Given the description of an element on the screen output the (x, y) to click on. 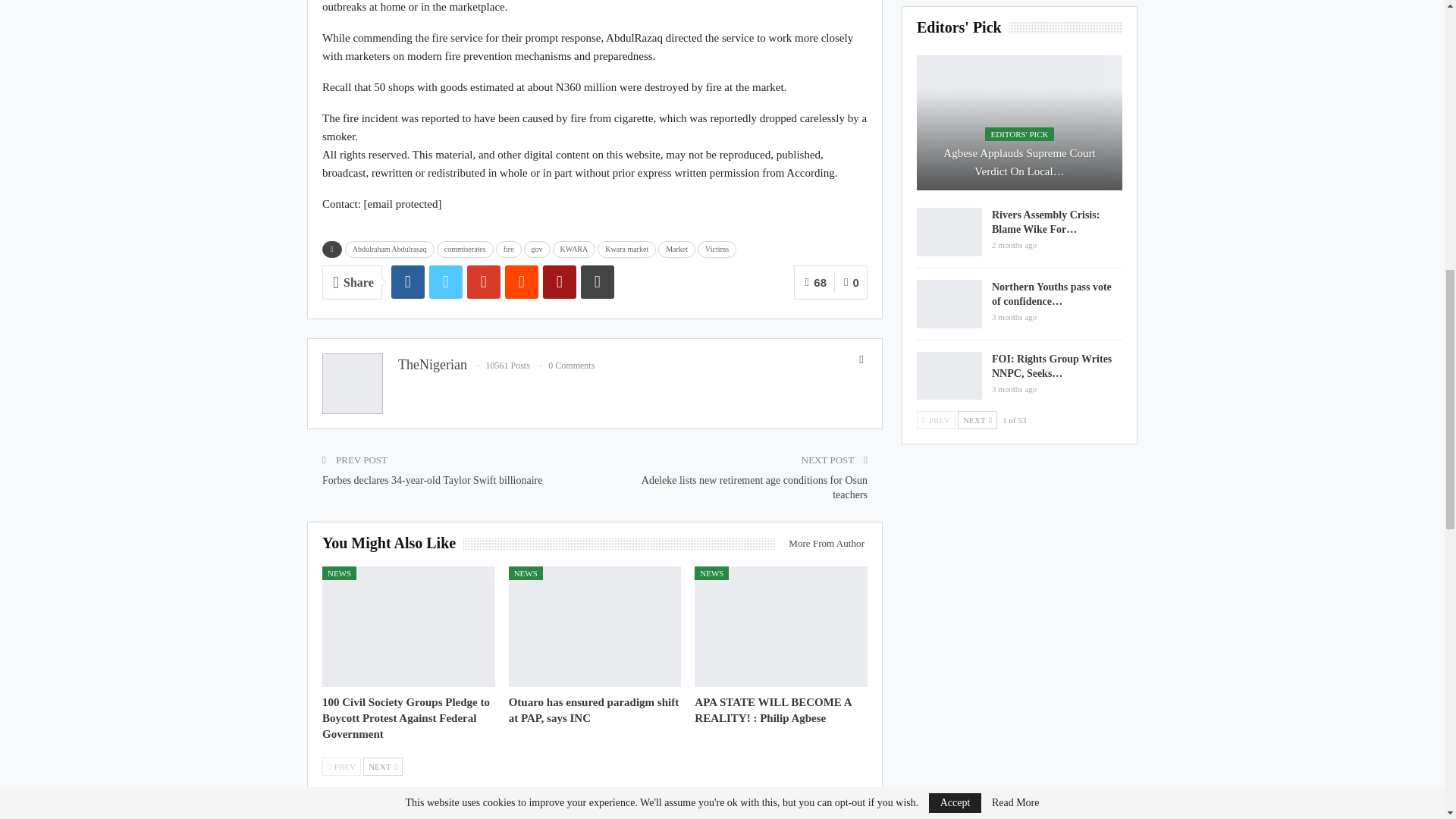
Kwara market (626, 248)
commiserates (464, 248)
Market (676, 248)
KWARA (574, 248)
fire (508, 248)
gov (537, 248)
Otuaro has ensured paradigm shift at PAP, says INC (593, 709)
Abdulraham Abdulrasaq (389, 248)
Otuaro has ensured paradigm shift at PAP, says INC (594, 626)
